Given the description of an element on the screen output the (x, y) to click on. 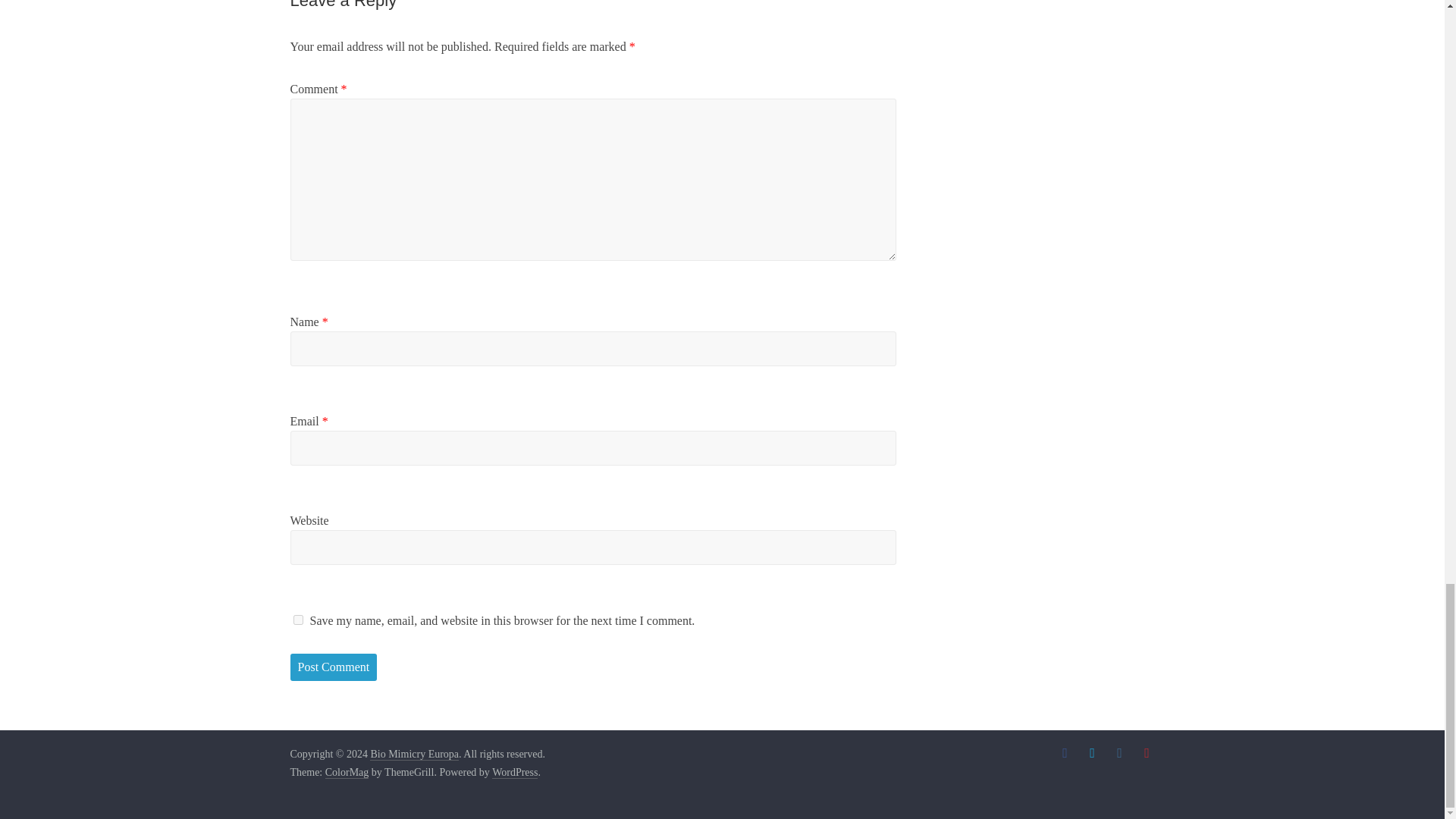
Post Comment (333, 666)
yes (297, 619)
Post Comment (333, 666)
